Given the description of an element on the screen output the (x, y) to click on. 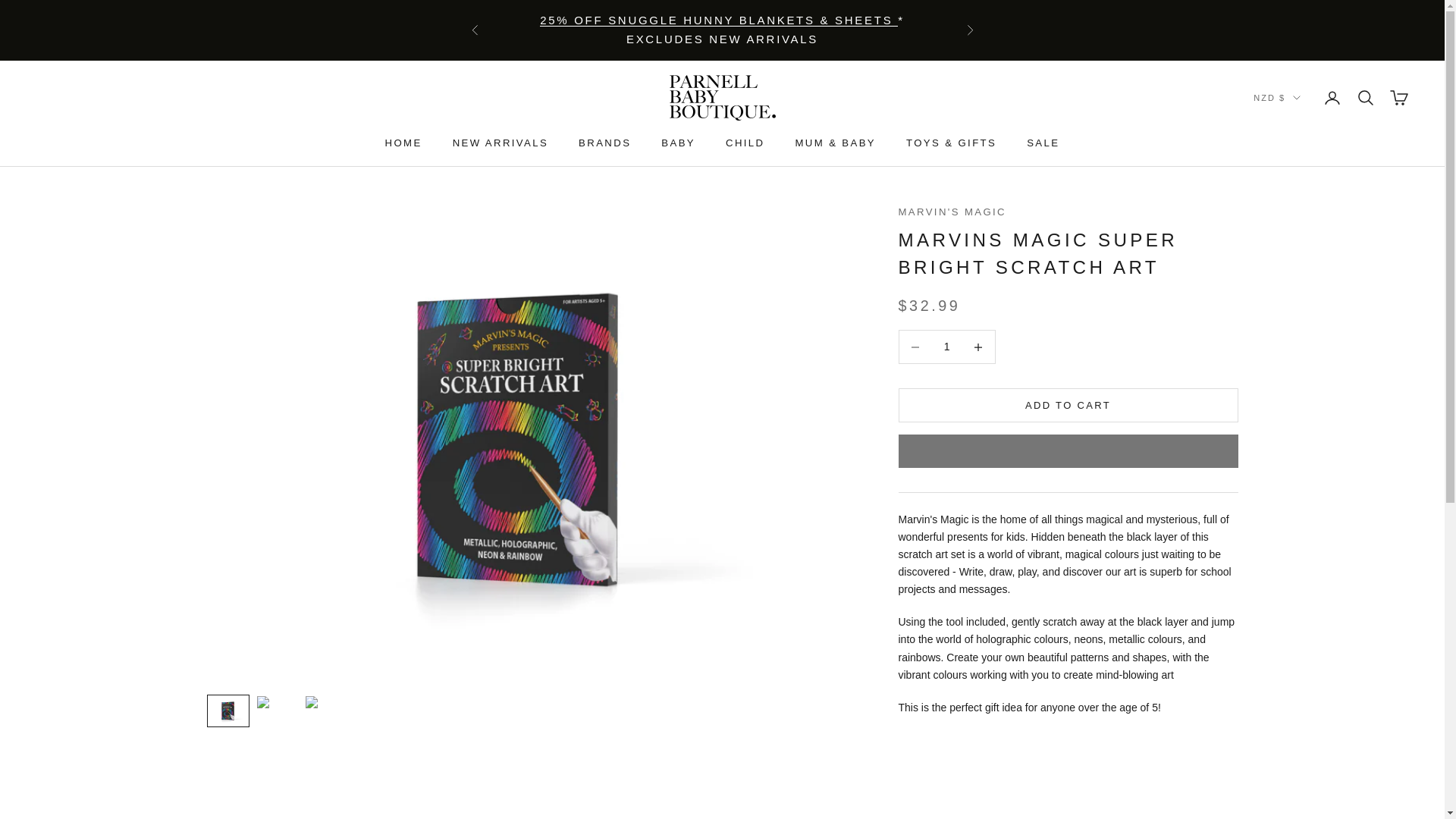
1 (946, 346)
Sale (719, 19)
HOME (403, 143)
NEW ARRIVALS (500, 143)
Parnell Baby Boutique (721, 97)
